Given the description of an element on the screen output the (x, y) to click on. 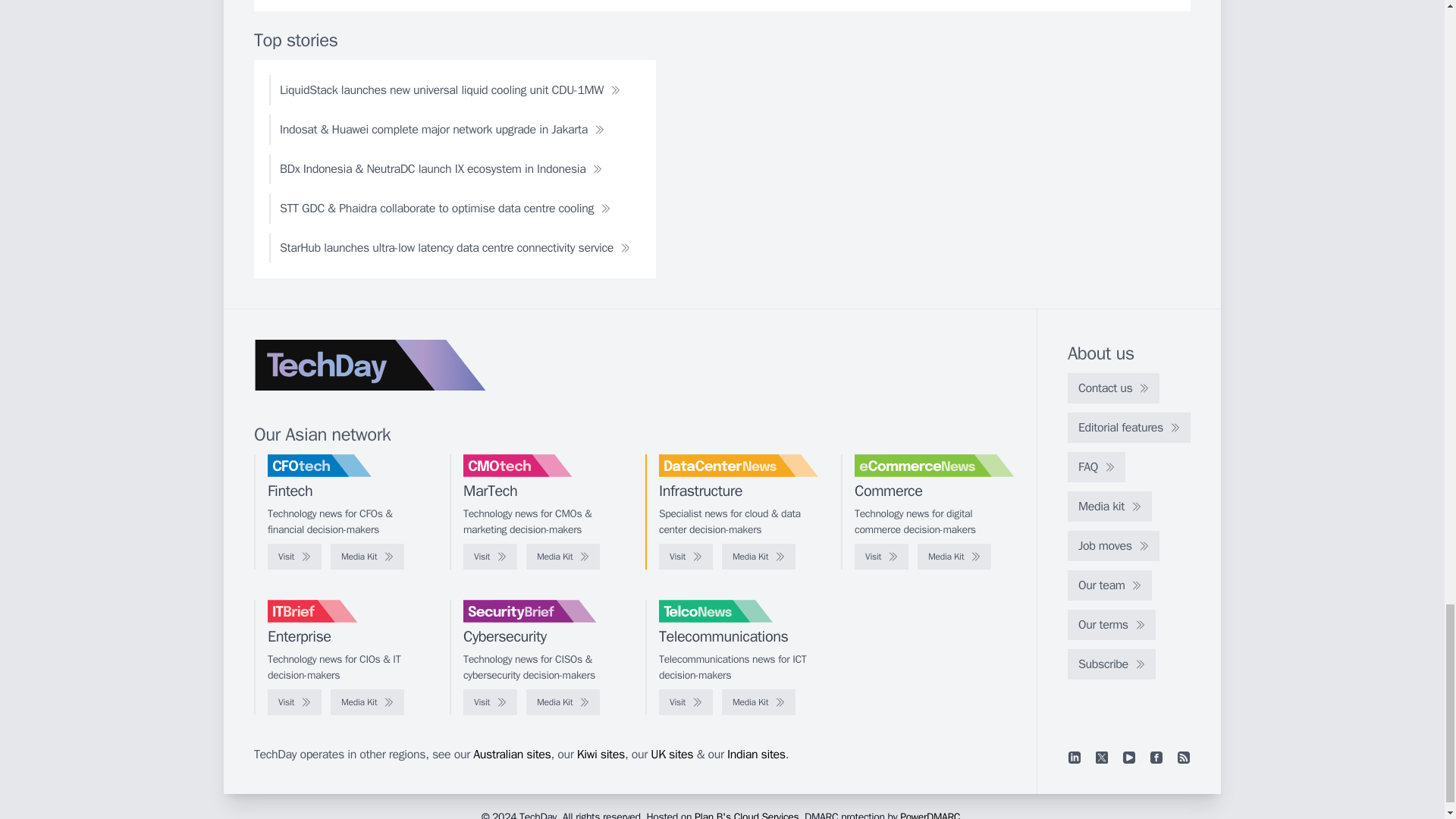
Visit (489, 556)
Media Kit (954, 556)
Visit (294, 556)
Visit (686, 556)
Visit (881, 556)
Media Kit (758, 556)
Media Kit (367, 556)
Media Kit (562, 556)
